Given the description of an element on the screen output the (x, y) to click on. 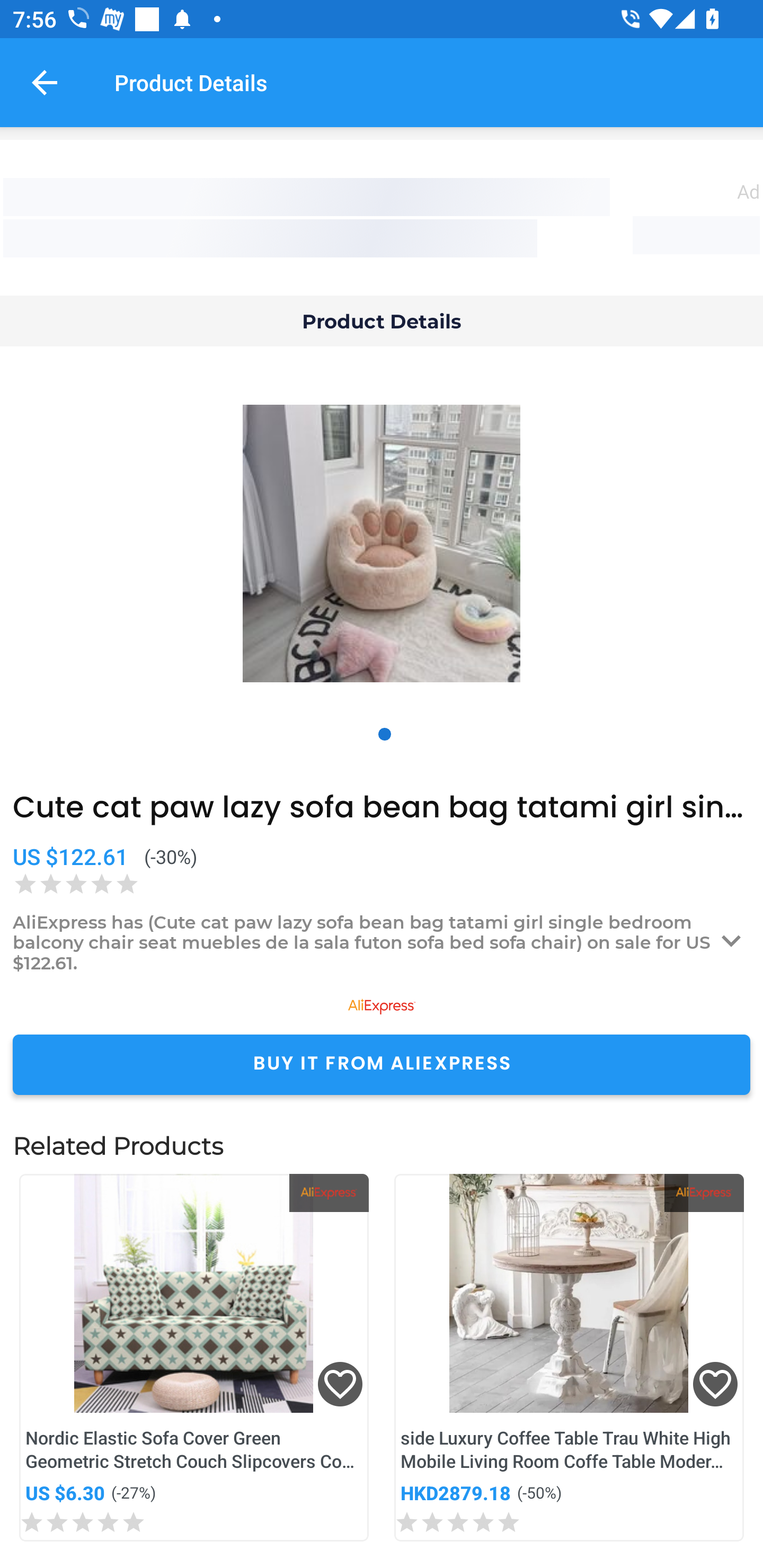
Navigate up (44, 82)
BUY IT FROM ALIEXPRESS (381, 1064)
